Given the description of an element on the screen output the (x, y) to click on. 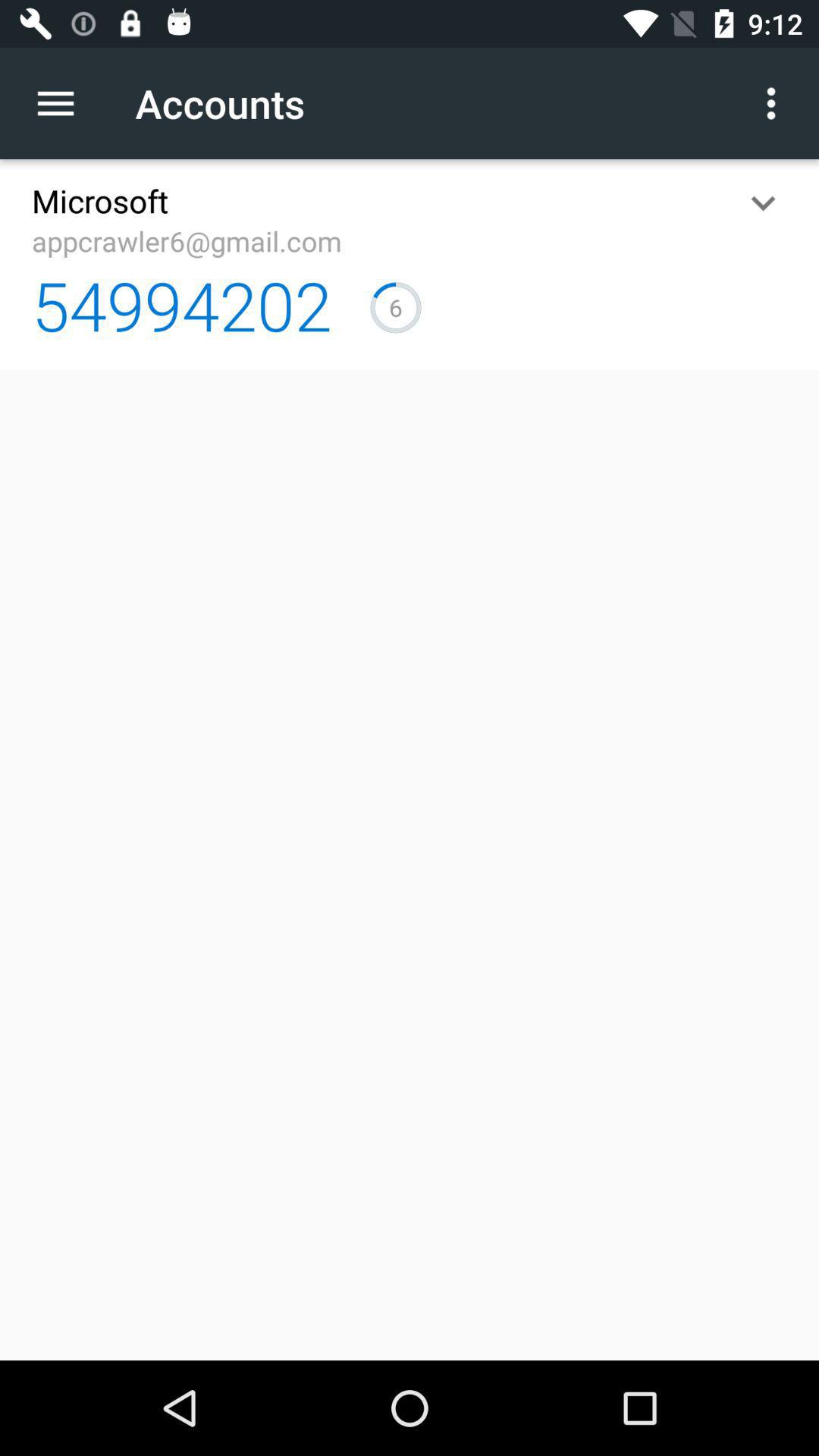
launch 5 item (395, 307)
